Given the description of an element on the screen output the (x, y) to click on. 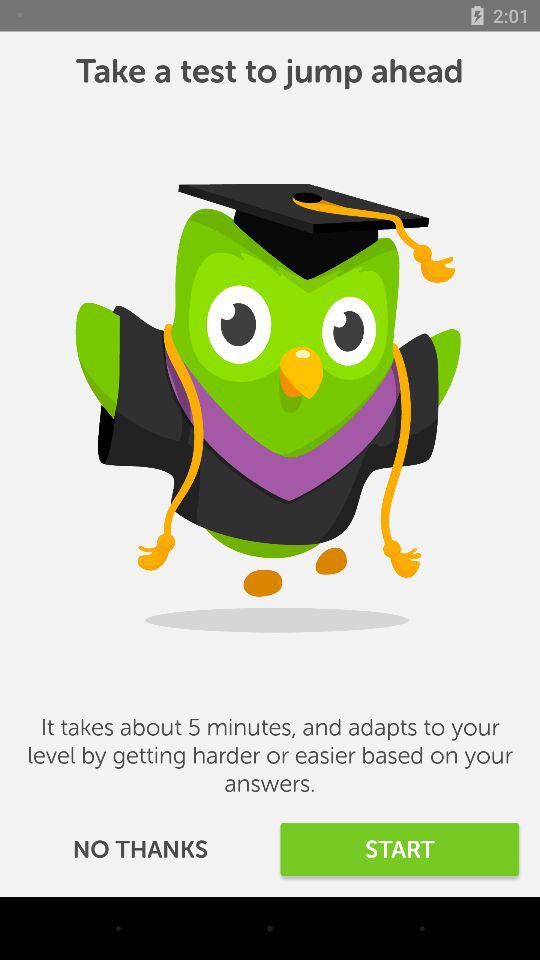
turn on item below the it takes about (399, 849)
